Given the description of an element on the screen output the (x, y) to click on. 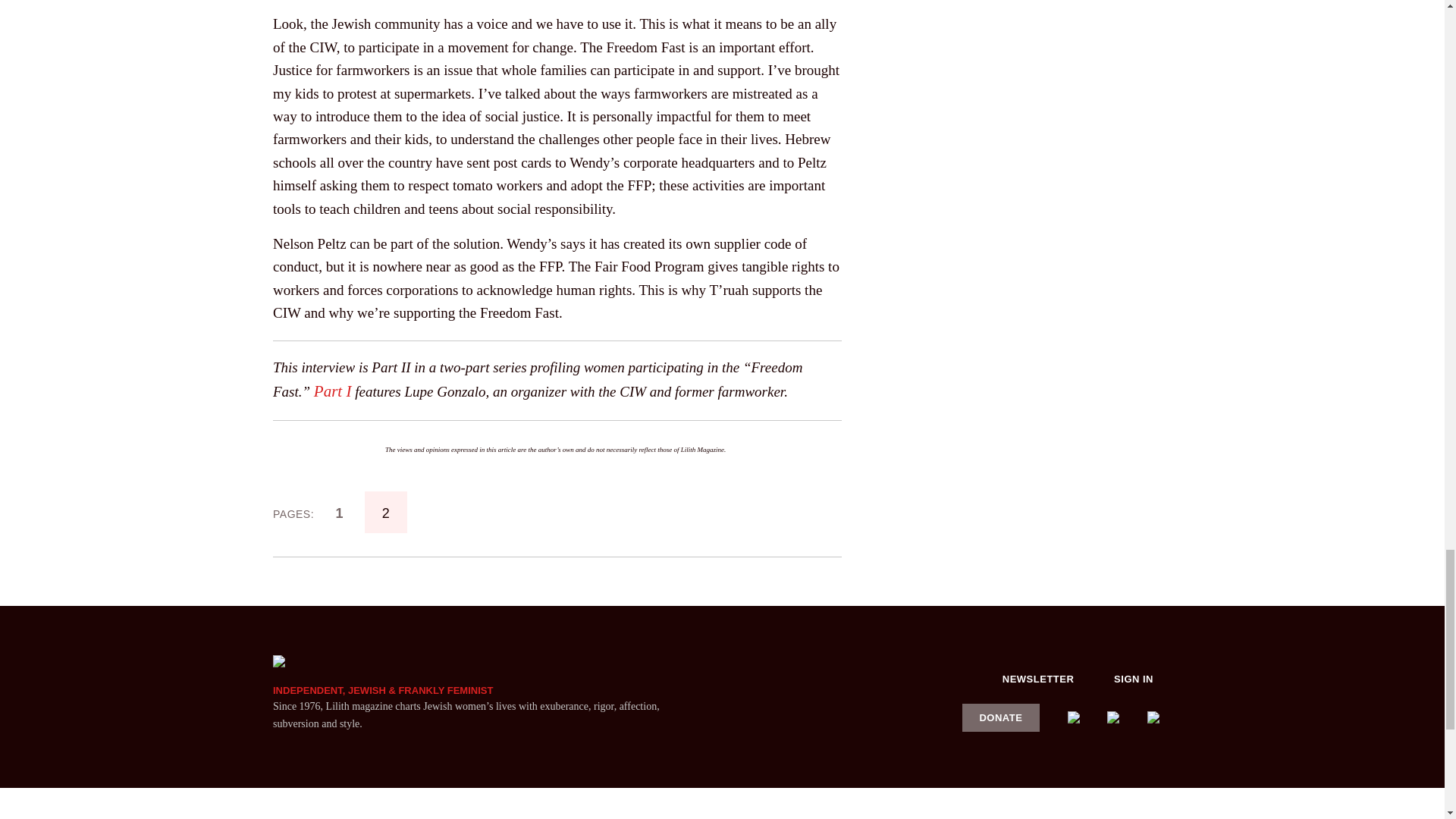
DONATE (1000, 717)
1 (338, 512)
NEWSLETTER (1038, 679)
SIGN IN (1134, 679)
Part I (333, 391)
